Given the description of an element on the screen output the (x, y) to click on. 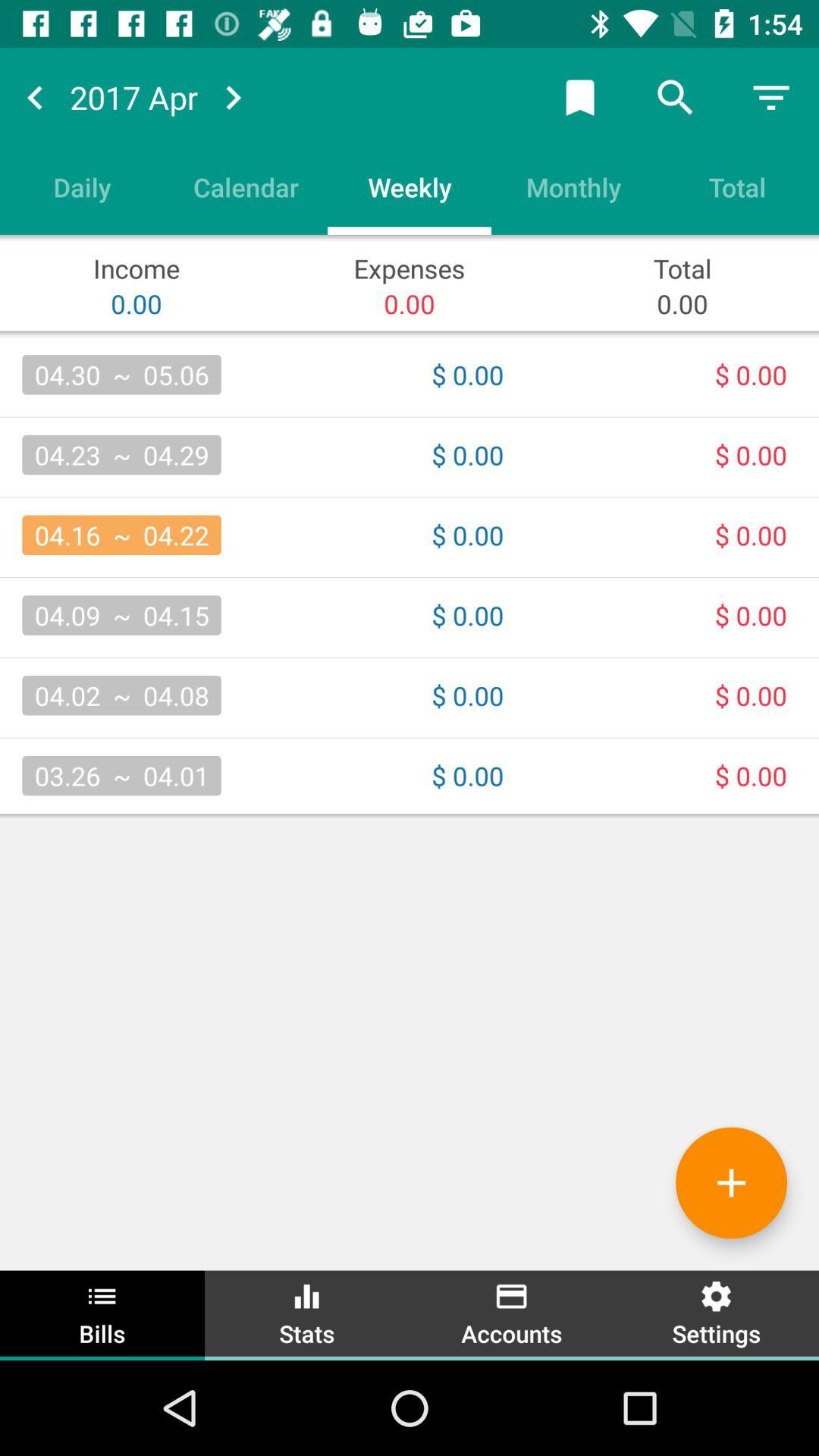
go to search mode (675, 97)
